Given the description of an element on the screen output the (x, y) to click on. 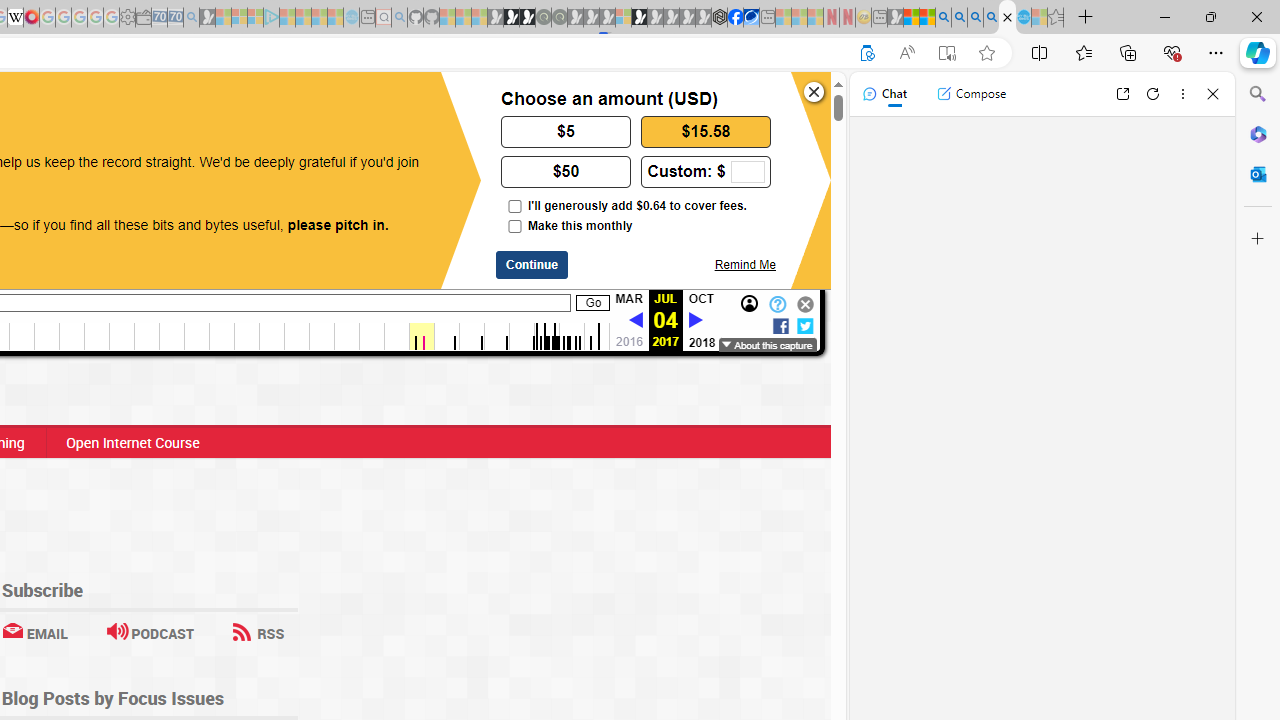
RSS (258, 632)
Compose (971, 93)
MediaWiki (31, 17)
